Given the description of an element on the screen output the (x, y) to click on. 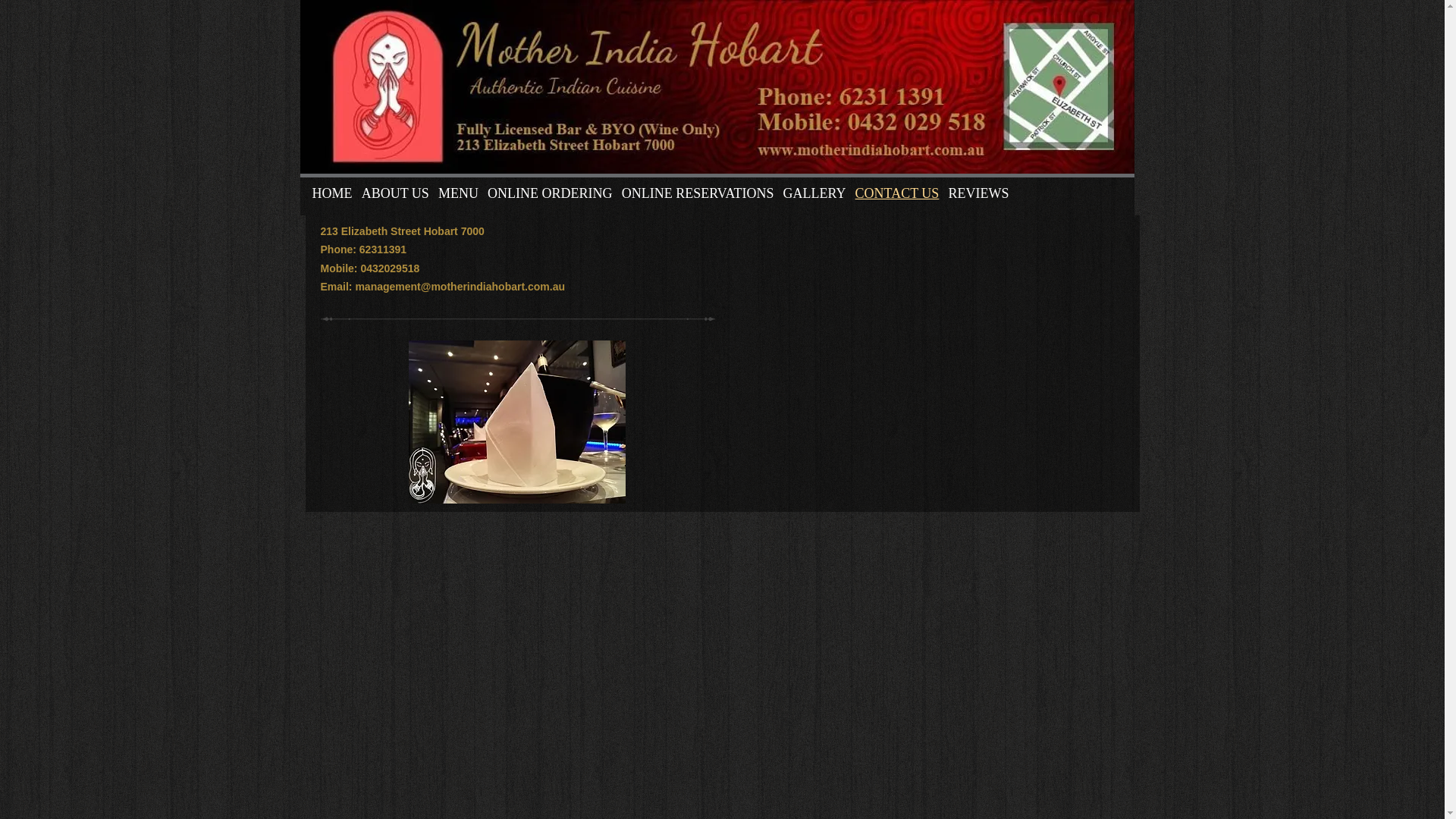
HOME Element type: text (332, 193)
ONLINE ORDERING Element type: text (550, 193)
MENU Element type: text (458, 193)
Google Maps Element type: hover (930, 358)
ONLINE RESERVATIONS Element type: text (697, 193)
REVIEWS Element type: text (978, 193)
GALLERY Element type: text (814, 193)
ABOUT US Element type: text (395, 193)
CONTACT US Element type: text (897, 193)
management@motherindiahobart.com.au Element type: text (459, 286)
